Given the description of an element on the screen output the (x, y) to click on. 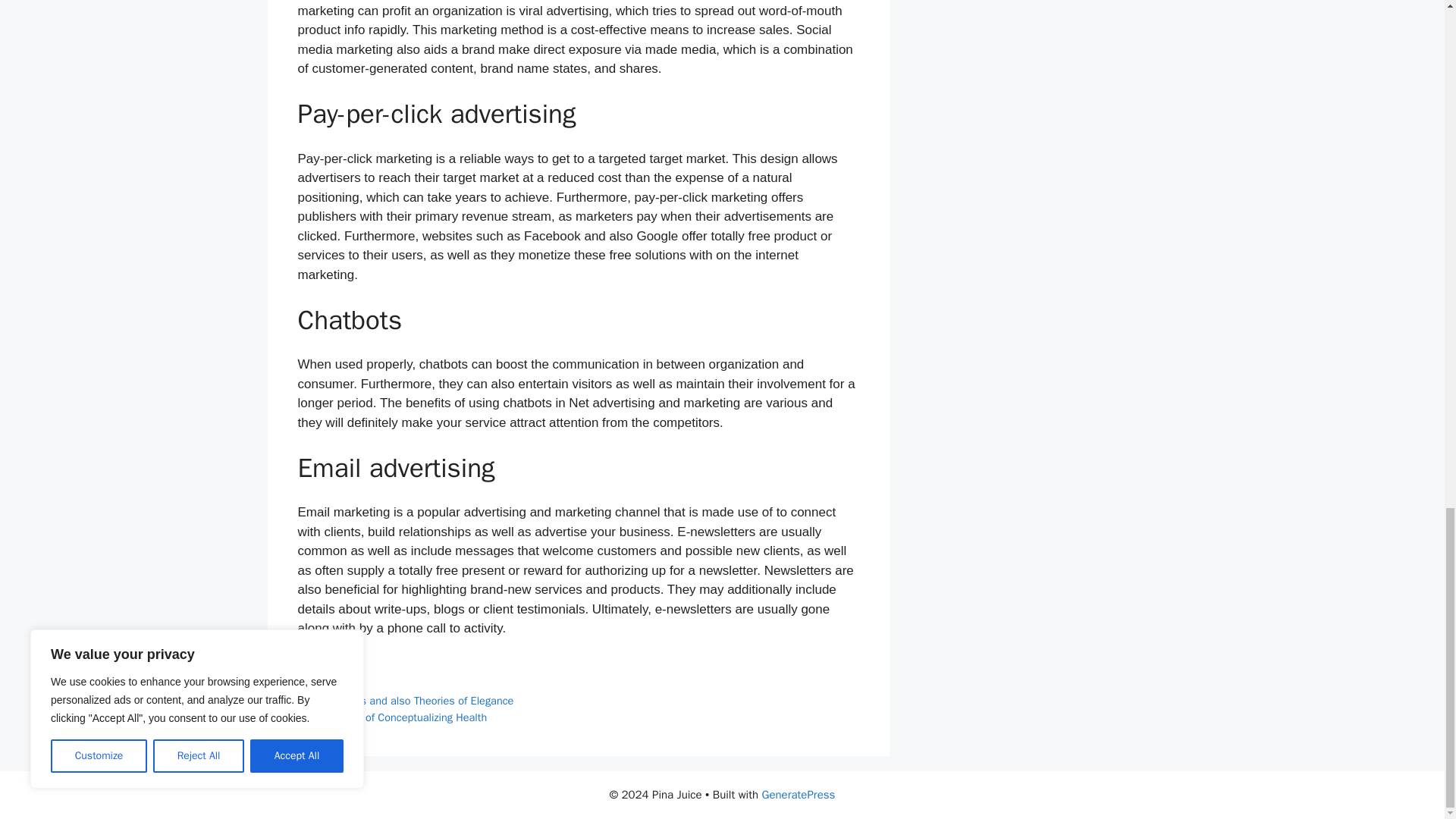
business (336, 684)
Business (337, 667)
The Value of Conceptualizing Health (401, 716)
Definitions and also Theories of Elegance (414, 700)
